Given the description of an element on the screen output the (x, y) to click on. 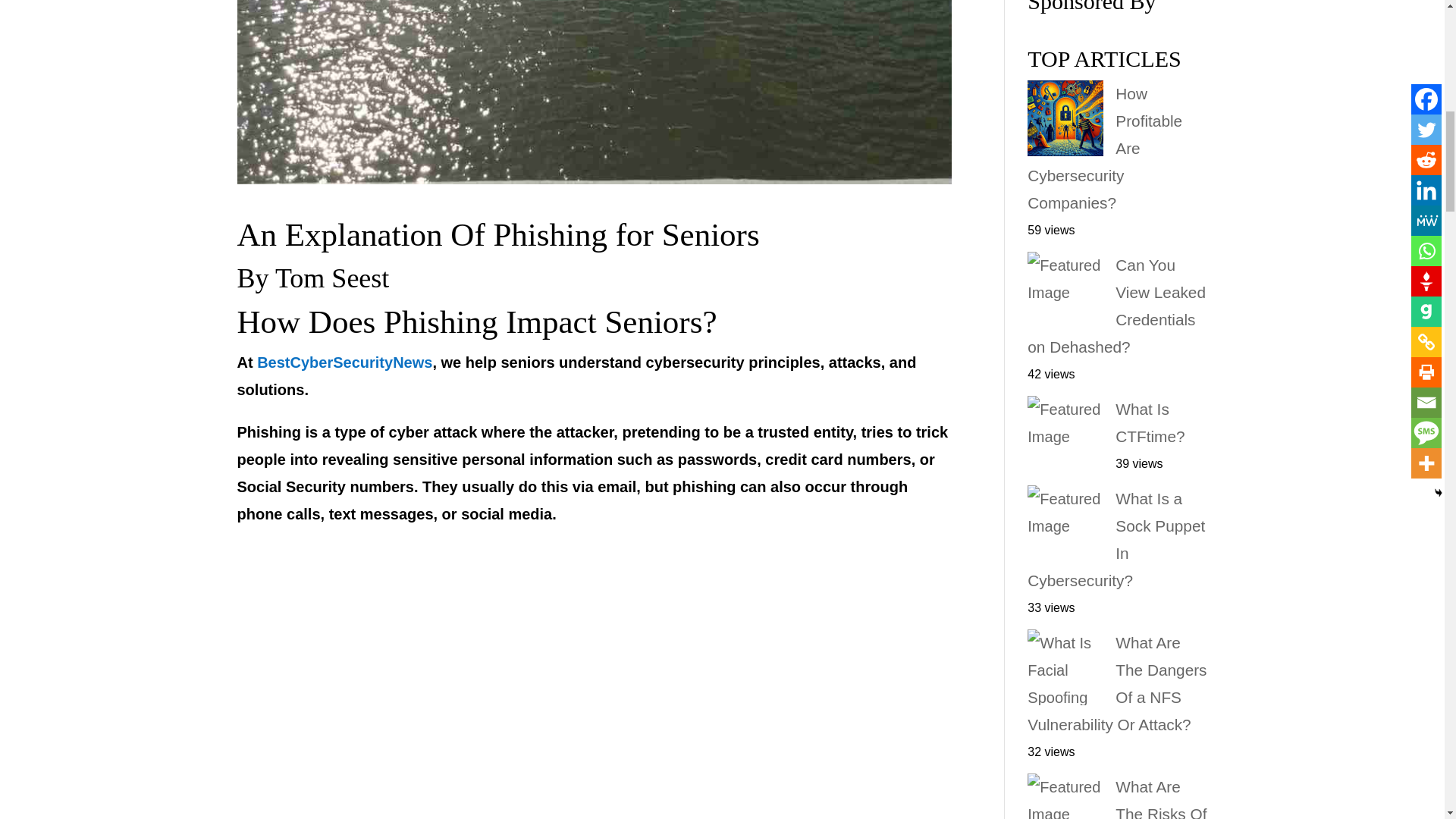
How Does Phishing Impact Seniors? (475, 321)
BestCyberSecurityNews (344, 362)
Tom Seest (331, 277)
